Given the description of an element on the screen output the (x, y) to click on. 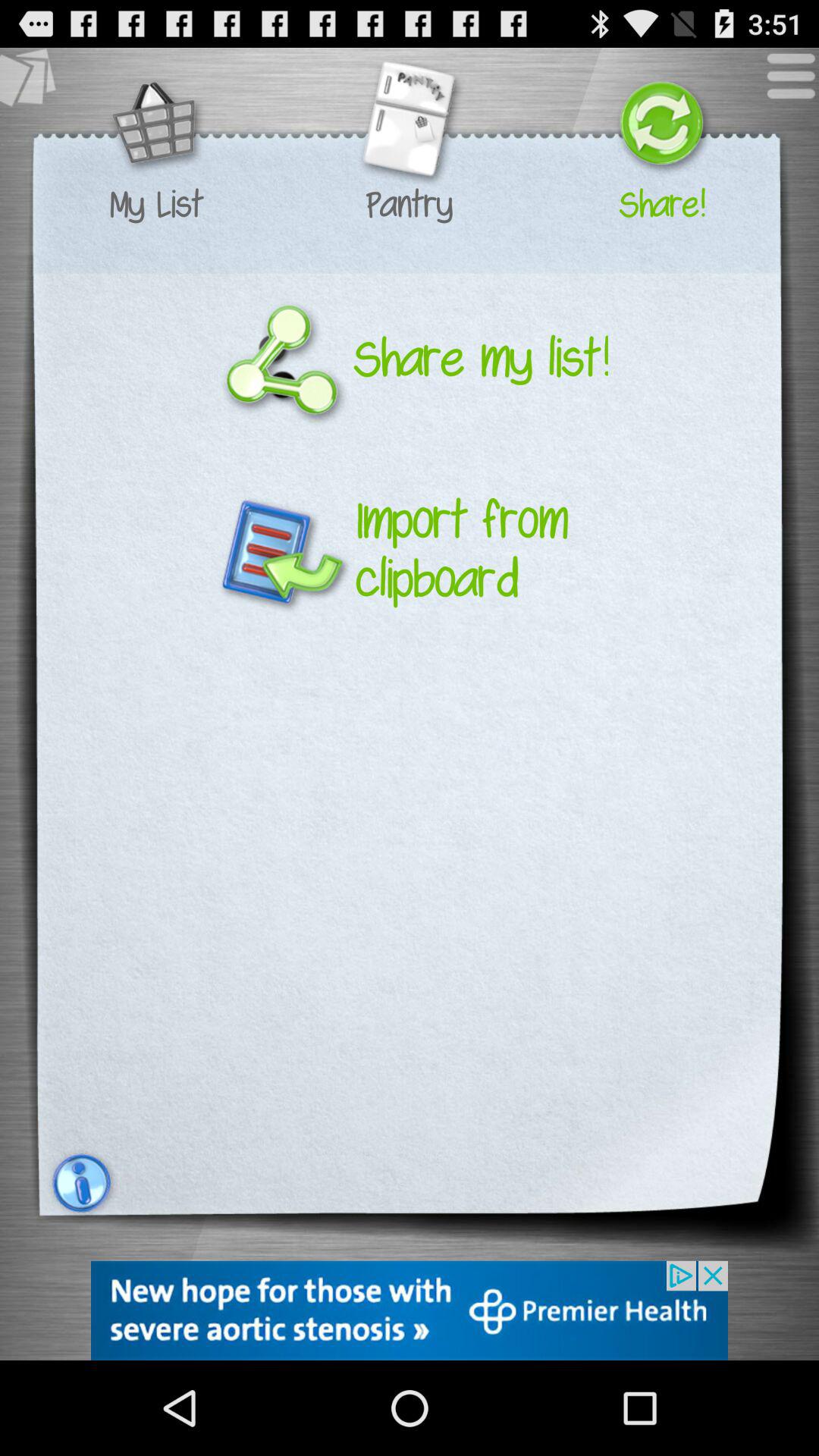
click to paste option (35, 83)
